Given the description of an element on the screen output the (x, y) to click on. 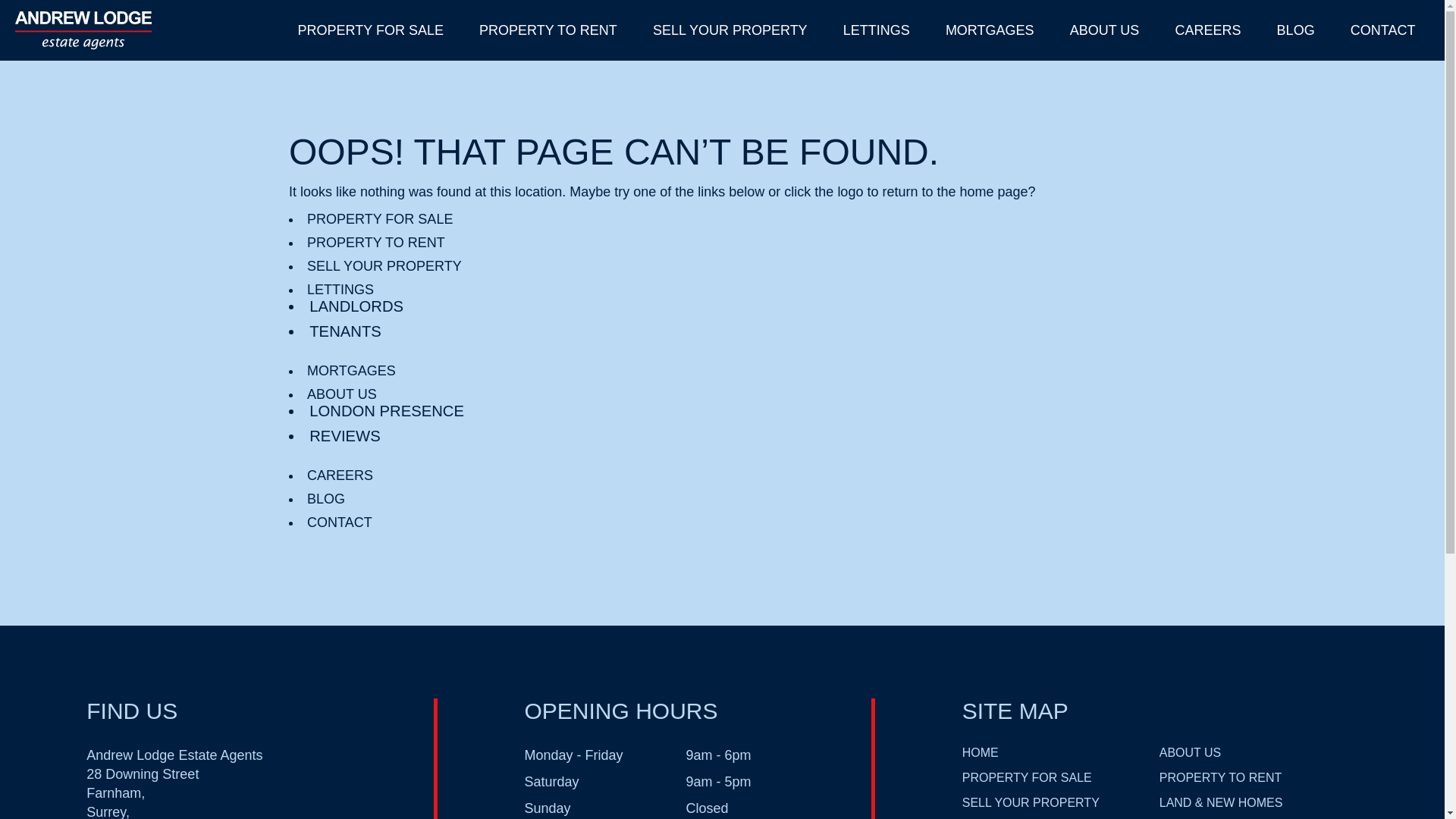
REVIEWS (344, 435)
HOME (980, 752)
LONDON PRESENCE (386, 410)
CONTACT (1383, 31)
PROPERTY FOR SALE (379, 218)
MORTGAGES (988, 31)
ABOUT US (1189, 752)
LANDLORDS (355, 306)
PROPERTY TO RENT (1220, 777)
MORTGAGES (351, 370)
BLOG (1295, 31)
CAREERS (339, 475)
ABOUT US (342, 394)
SELL YOUR PROPERTY (1030, 802)
PROPERTY TO RENT (548, 31)
